Given the description of an element on the screen output the (x, y) to click on. 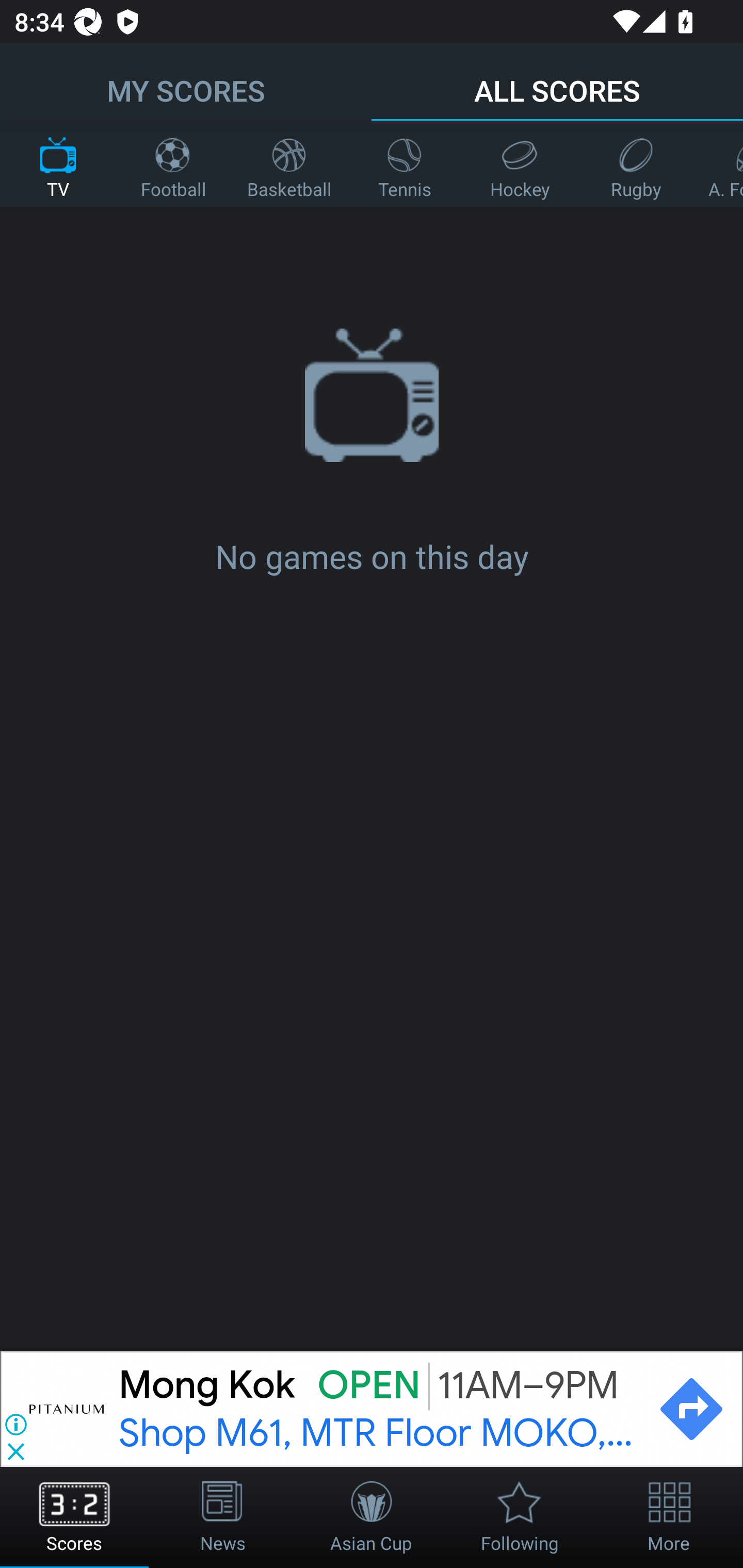
MY SCORES (185, 81)
ALL SCORES (557, 81)
TV (57, 163)
Football (173, 163)
Basketball (288, 163)
Tennis (404, 163)
Hockey (520, 163)
Rugby (635, 163)
超瘋狂預購 48小時 Pitanium MOKO 超瘋狂預購 48小時 Pitanium MOKO (379, 1409)
News (222, 1517)
Asian Cup (371, 1517)
Following (519, 1517)
More (668, 1517)
